Given the description of an element on the screen output the (x, y) to click on. 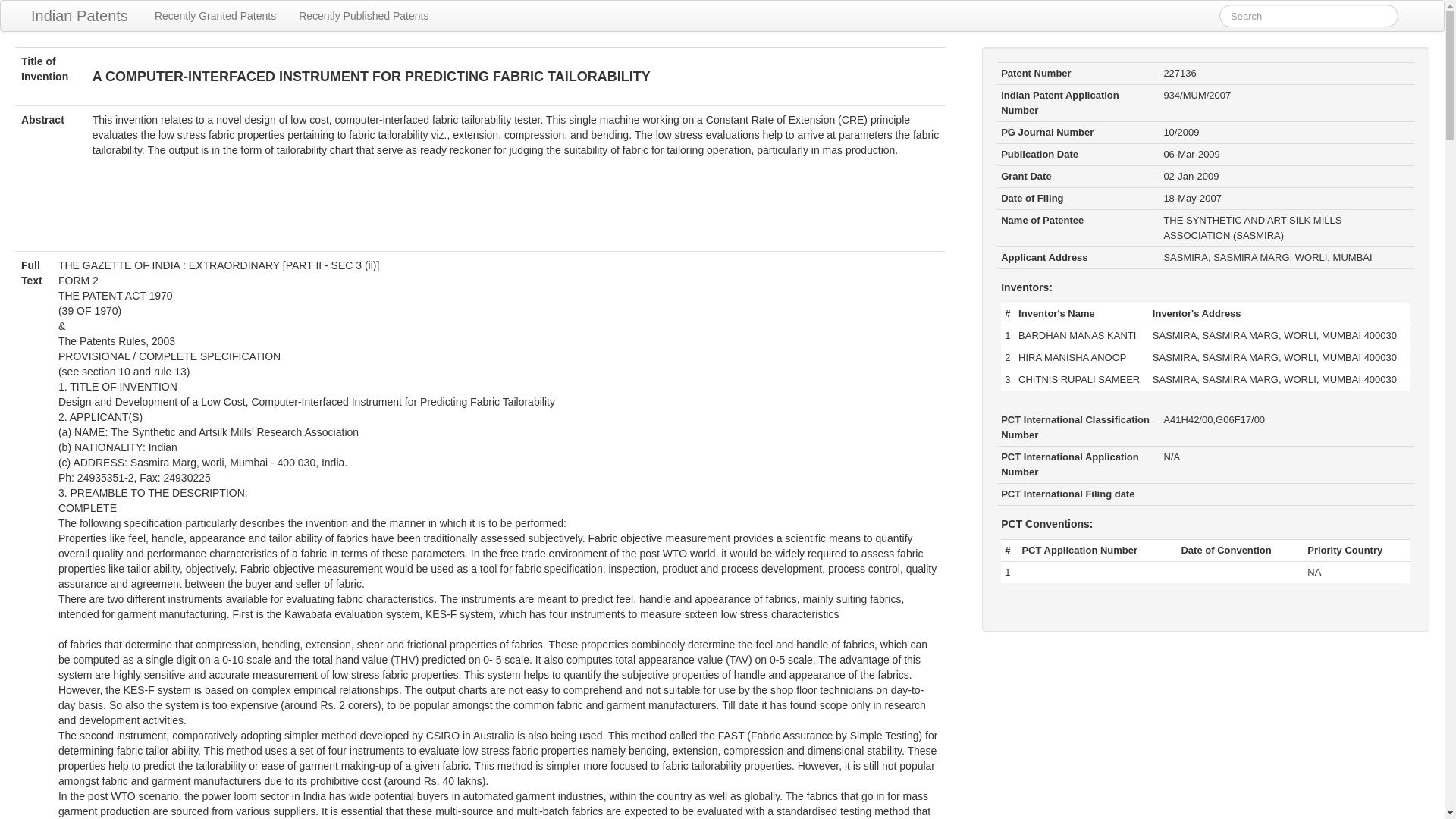
Indian Patents (79, 15)
Advertisement (481, 213)
Recently Granted Patents (214, 15)
Recently Published Patents (362, 15)
